Given the description of an element on the screen output the (x, y) to click on. 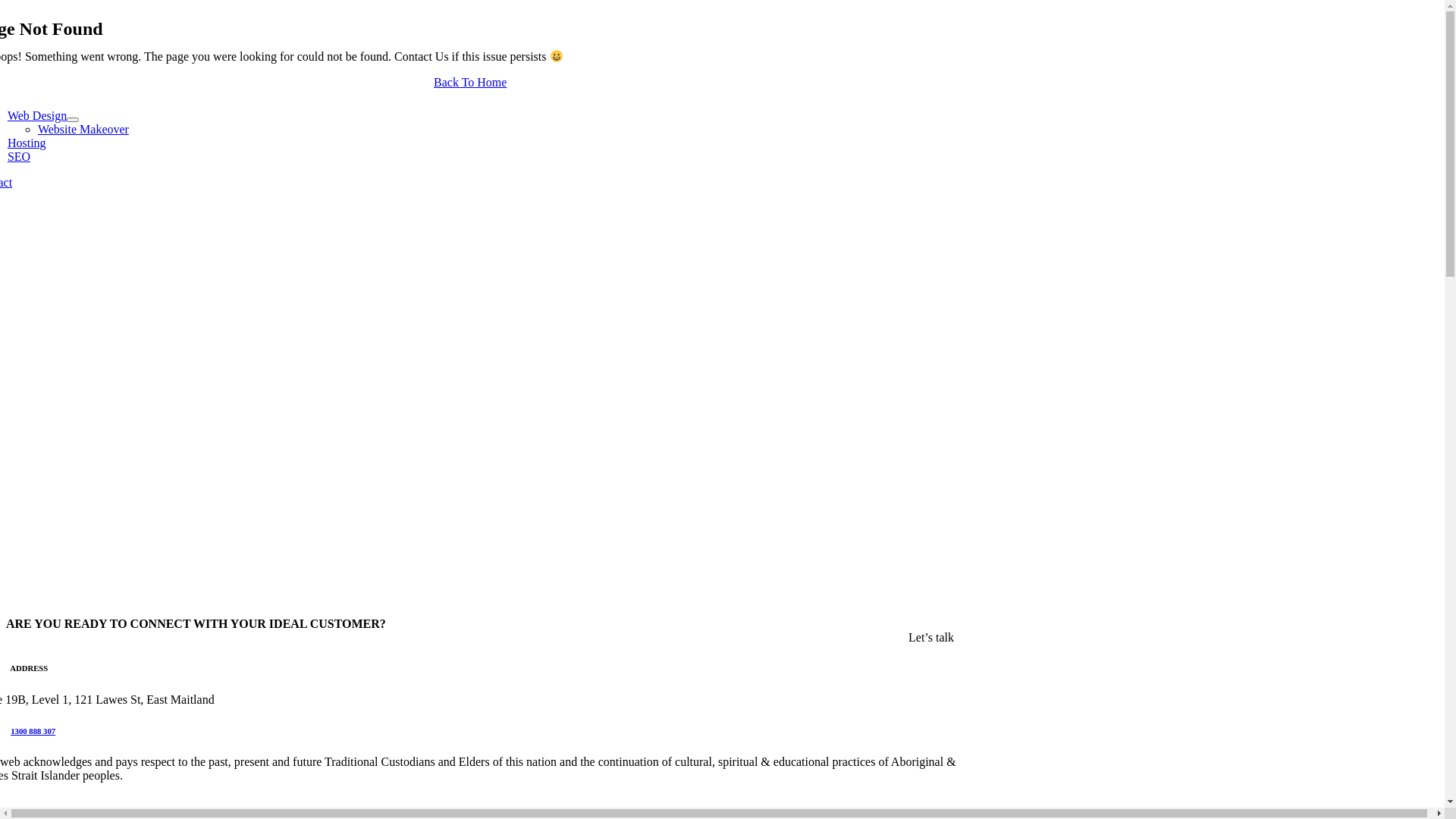
Skip to content Element type: text (5, 5)
Hosting Element type: text (26, 142)
Back To Home Element type: text (469, 81)
KRWB-min Element type: hover (274, 351)
SEO Element type: text (18, 156)
Website Makeover Element type: text (82, 128)
Web Design Element type: text (36, 115)
